Given the description of an element on the screen output the (x, y) to click on. 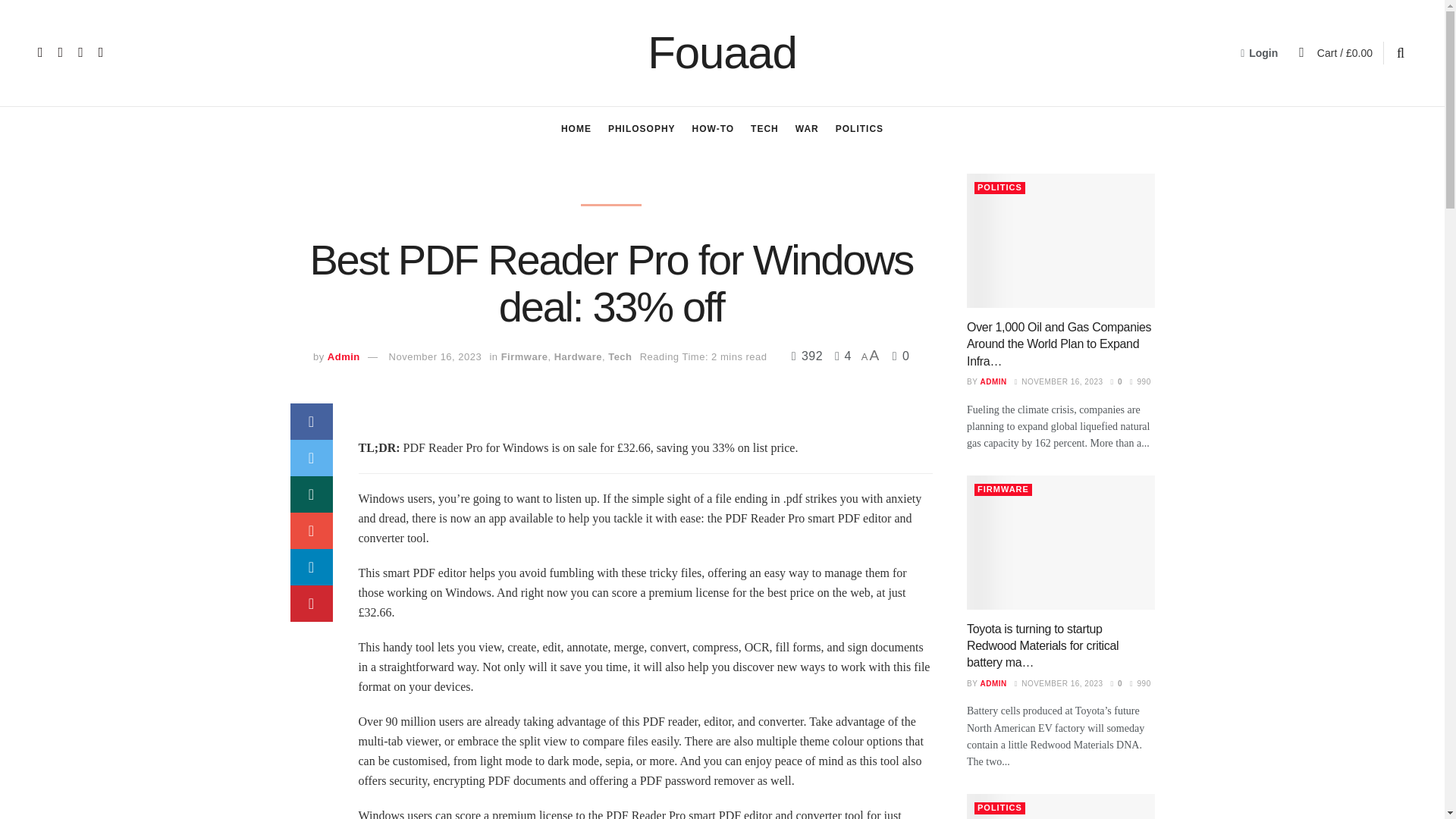
Fouaad (721, 53)
0 (901, 355)
PHILOSOPHY (641, 128)
Admin (343, 356)
Firmware (524, 356)
POLITICS (859, 128)
4 (839, 355)
Hardware (578, 356)
November 16, 2023 (434, 356)
392 (809, 355)
